Given the description of an element on the screen output the (x, y) to click on. 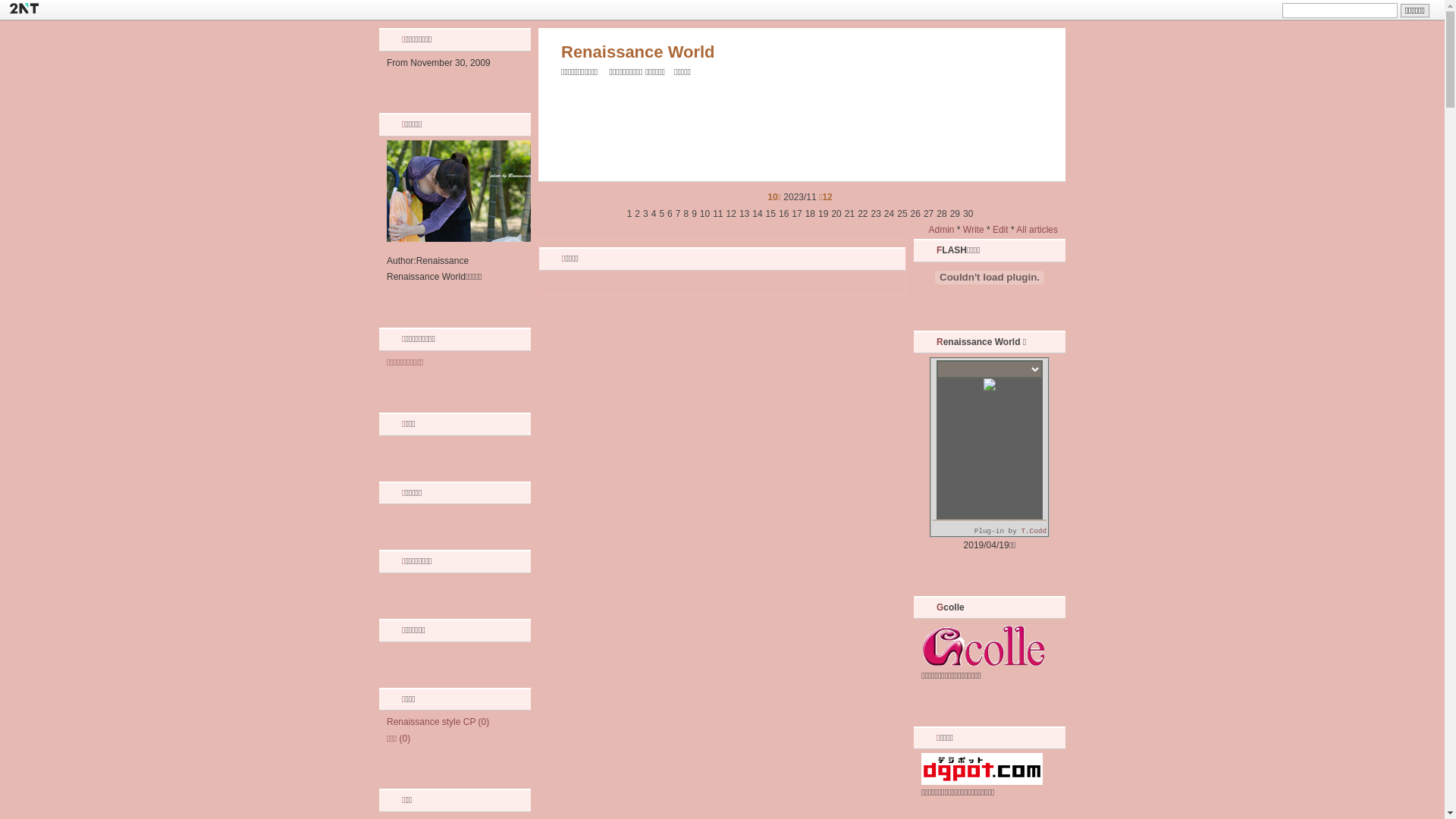
All articles Element type: text (1036, 229)
Write Element type: text (973, 229)
Edit Element type: text (1000, 229)
Renaissance World Element type: text (638, 51)
Admin Element type: text (940, 229)
Renaissance style CP (0) Element type: text (437, 721)
T.Codd Element type: text (1033, 531)
